Given the description of an element on the screen output the (x, y) to click on. 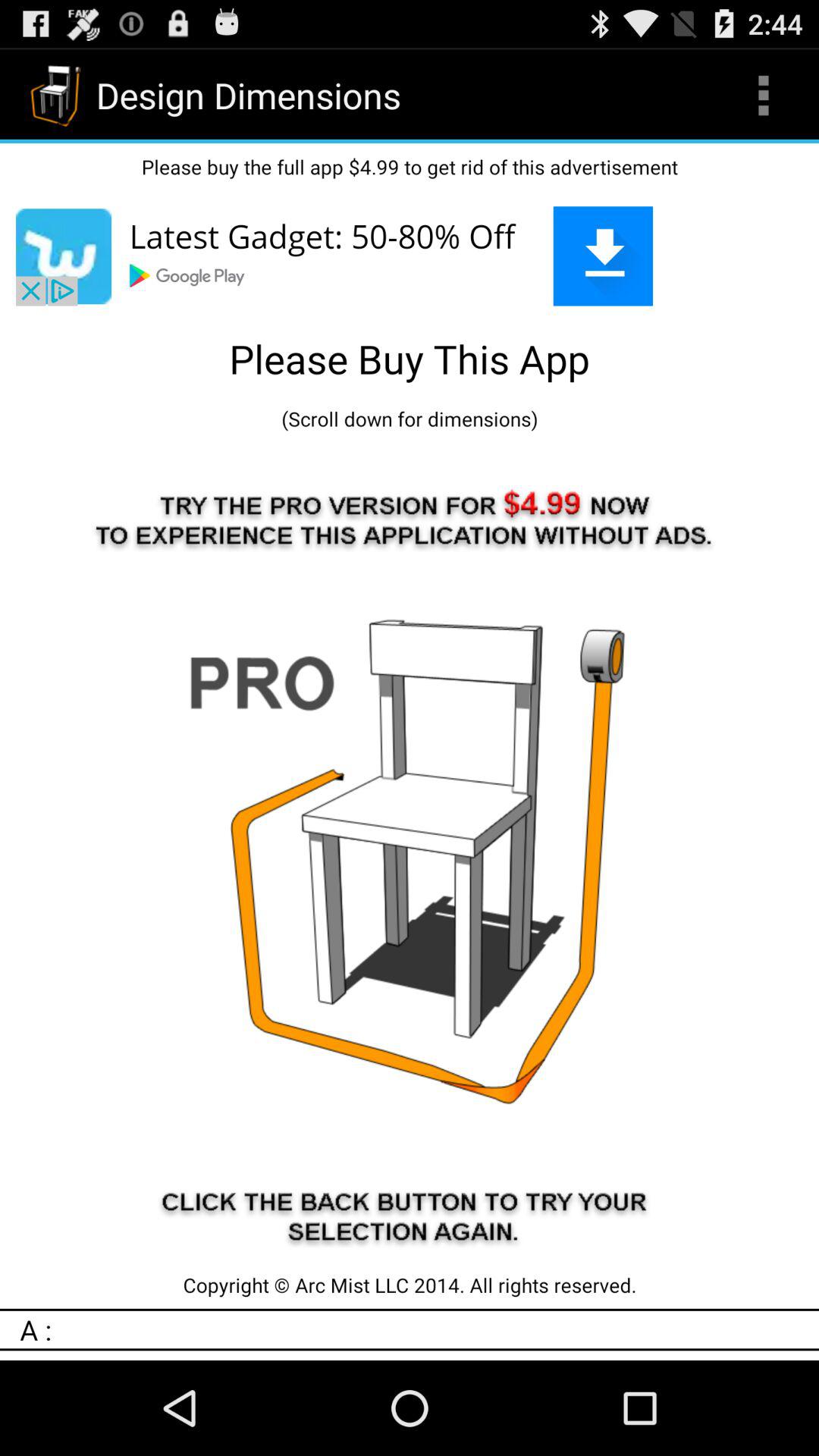
choose item next to design dimensions icon (763, 95)
